Given the description of an element on the screen output the (x, y) to click on. 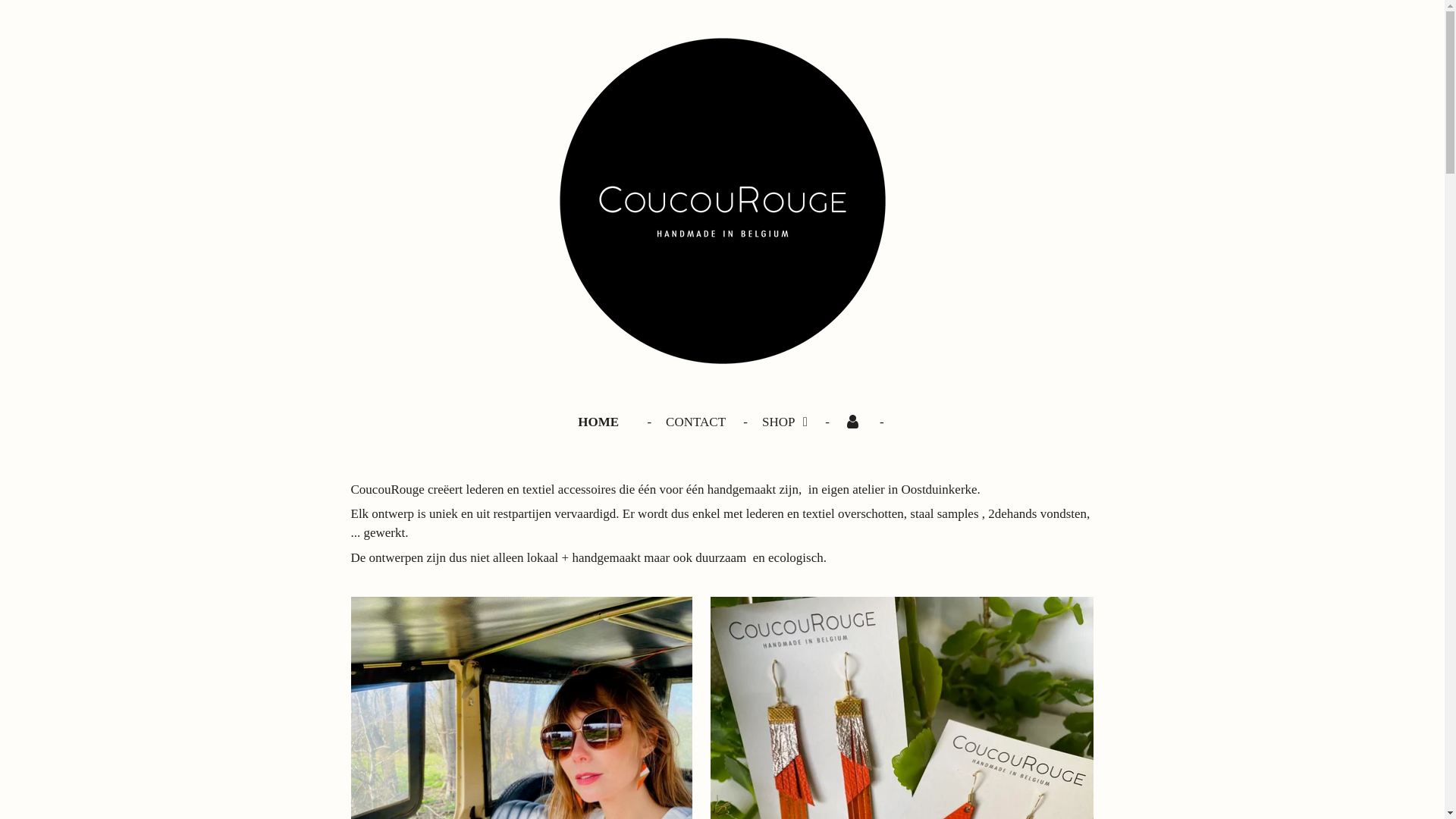
Account Element type: hover (852, 421)
SHOP Element type: text (784, 421)
coucourouge.be Element type: hover (722, 200)
CONTACT Element type: text (695, 421)
HOME Element type: text (598, 421)
